Given the description of an element on the screen output the (x, y) to click on. 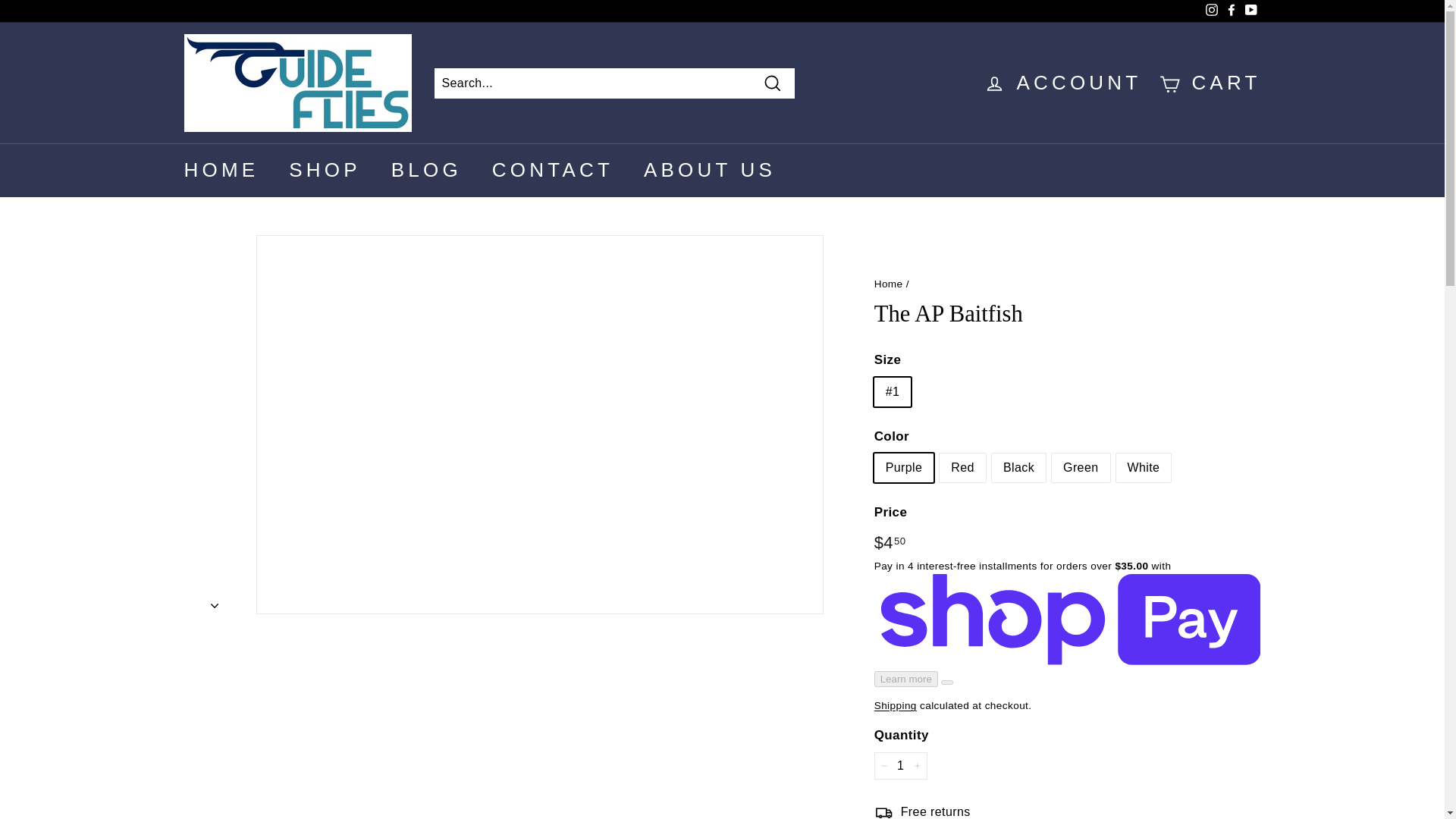
Instagram (1211, 11)
GuideFlies.com on YouTube (1250, 11)
1 (901, 765)
HOME (220, 170)
YouTube (1250, 11)
ACCOUNT (1062, 82)
SHOP (324, 170)
Back to the frontpage (888, 283)
Facebook (1230, 11)
GuideFlies.com on Facebook (1230, 11)
GuideFlies.com on Instagram (1211, 11)
